Given the description of an element on the screen output the (x, y) to click on. 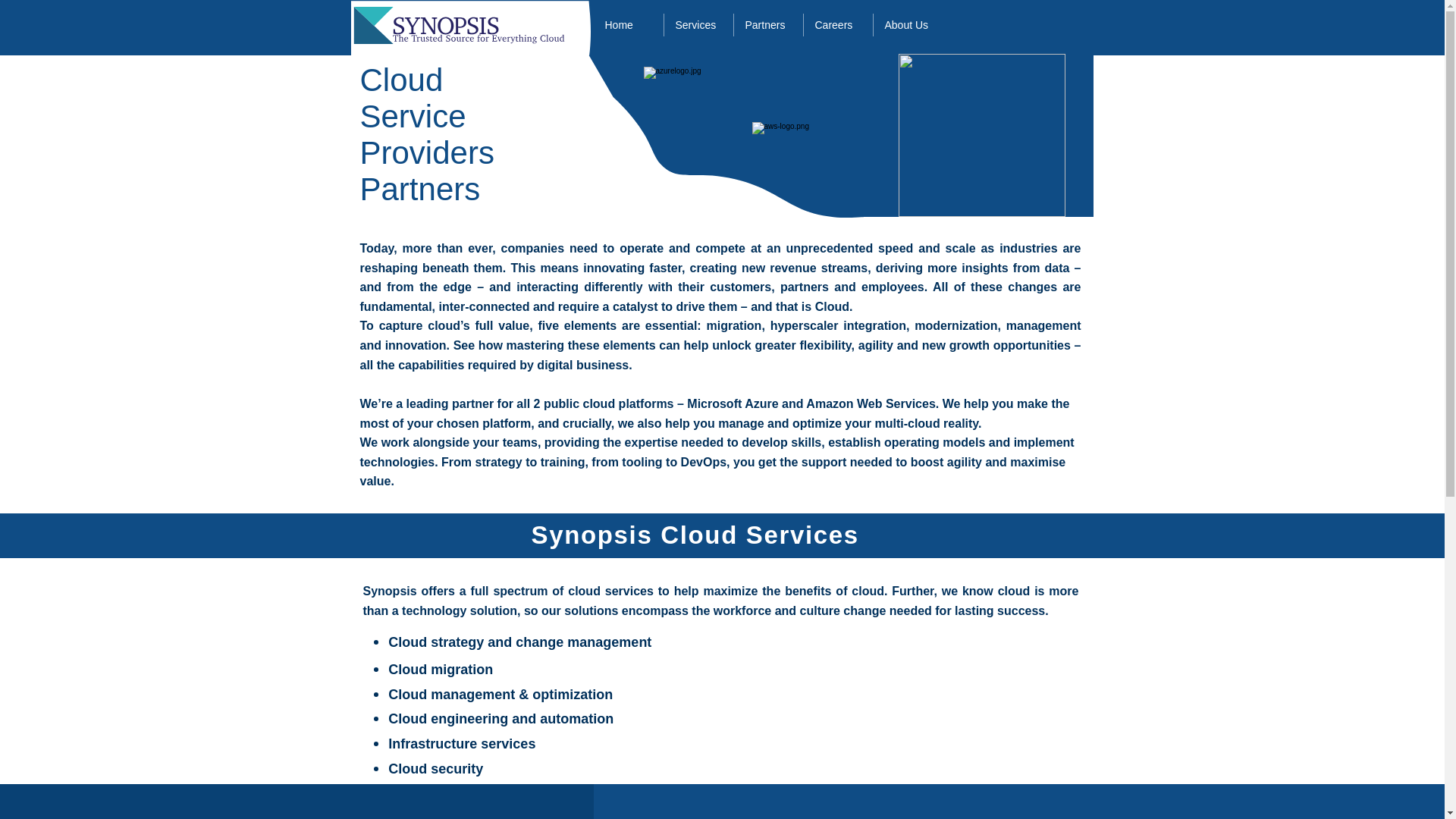
About Us (907, 24)
Careers (837, 24)
Home (627, 24)
